Given the description of an element on the screen output the (x, y) to click on. 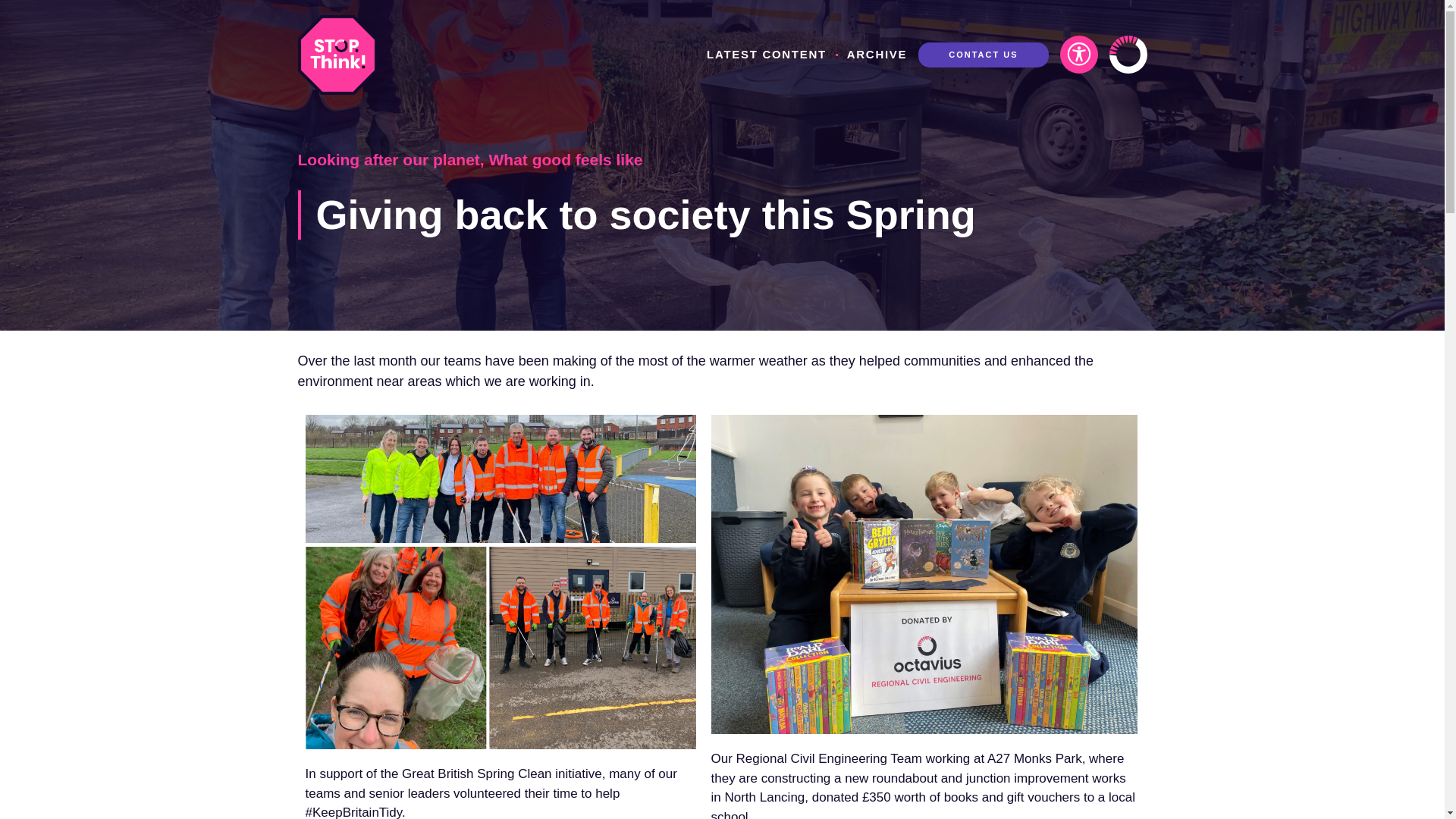
LATEST CONTENT (766, 54)
CONTACT US (983, 54)
ARCHIVE (877, 54)
